Given the description of an element on the screen output the (x, y) to click on. 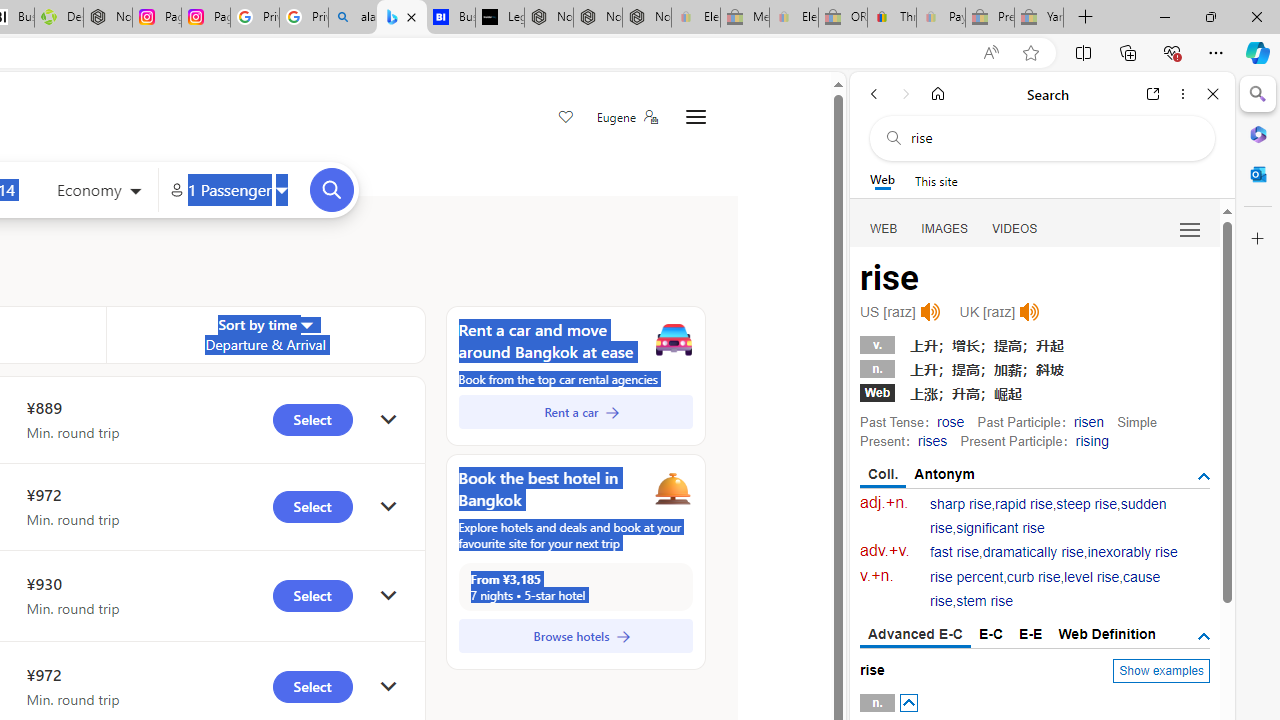
sudden rise (1048, 515)
rise percent (966, 577)
Sort by time Sorter Departure & Arrival (265, 334)
stem rise (984, 601)
Sorter (306, 324)
Rent a car (575, 412)
E-E (1030, 633)
